Given the description of an element on the screen output the (x, y) to click on. 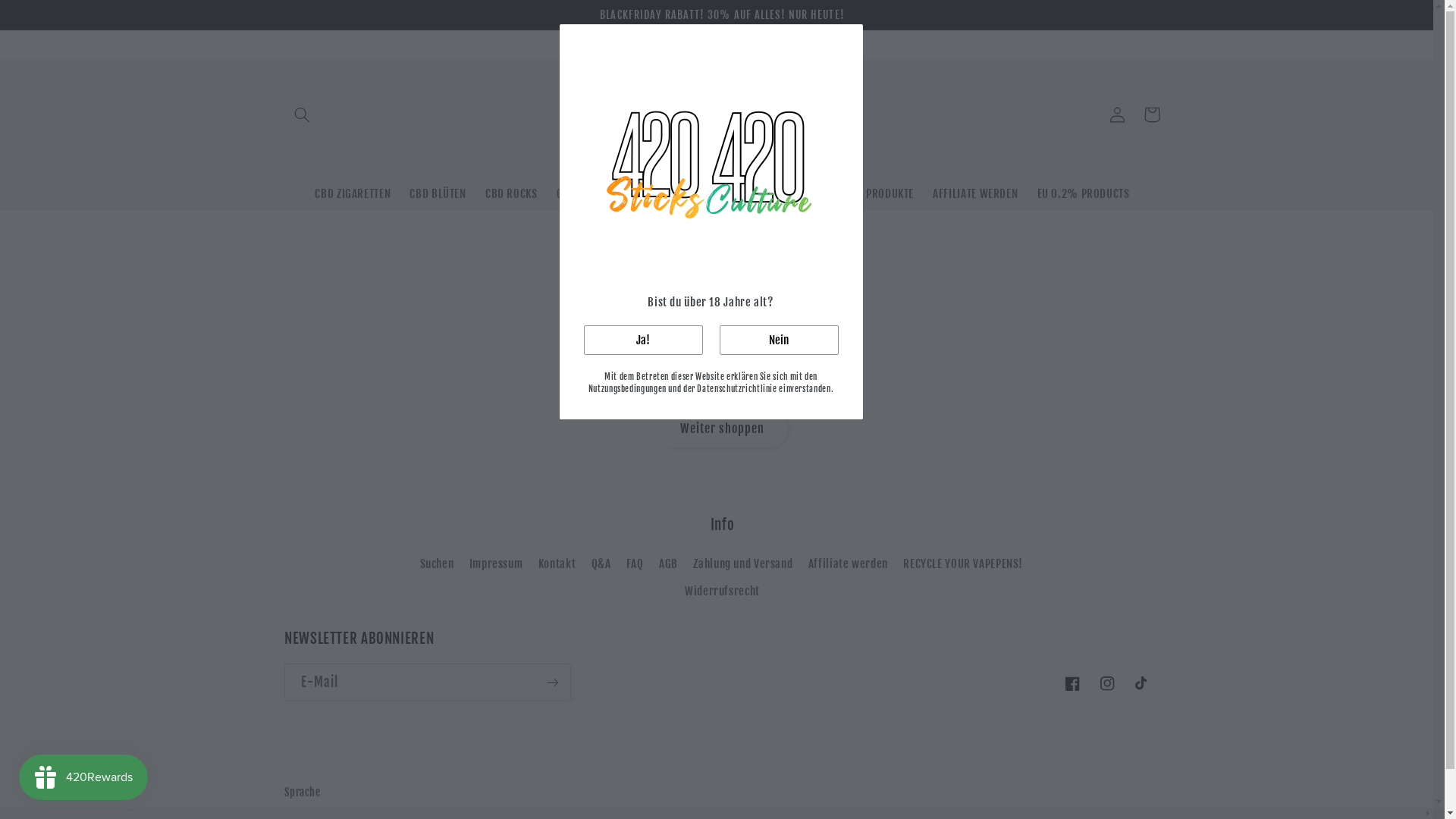
Warenkorb Element type: text (1151, 114)
Instagram Element type: text (1107, 682)
Einloggen Element type: text (1116, 114)
FAQ Element type: text (634, 563)
VAPE PENS Element type: text (660, 193)
Impressum Element type: text (496, 563)
Ja! Element type: text (642, 339)
Suchen Element type: text (437, 565)
RECYCLE YOUR VAPEPENS! Element type: text (962, 563)
Smile.io Rewards Program Launcher Element type: hover (82, 777)
CBD BAGGIES Element type: text (586, 193)
Nein Element type: text (777, 339)
Widerrufsrecht Element type: text (721, 591)
420TREE PRODUKTE Element type: text (867, 193)
TikTok Element type: text (1142, 682)
Facebook Element type: text (1071, 682)
EU 0.2% PRODUCTS Element type: text (1083, 193)
CBD ROCKS Element type: text (510, 193)
CBD ZIGARETTEN Element type: text (352, 193)
Kontakt Element type: text (556, 563)
Q&A Element type: text (601, 563)
AFFILIATE WERDEN Element type: text (975, 193)
Weiter shoppen Element type: text (722, 428)
Zahlung und Versand Element type: text (742, 563)
Affiliate werden Element type: text (848, 563)
LIQUIDS Element type: text (722, 193)
AGB Element type: text (667, 563)
